Given the description of an element on the screen output the (x, y) to click on. 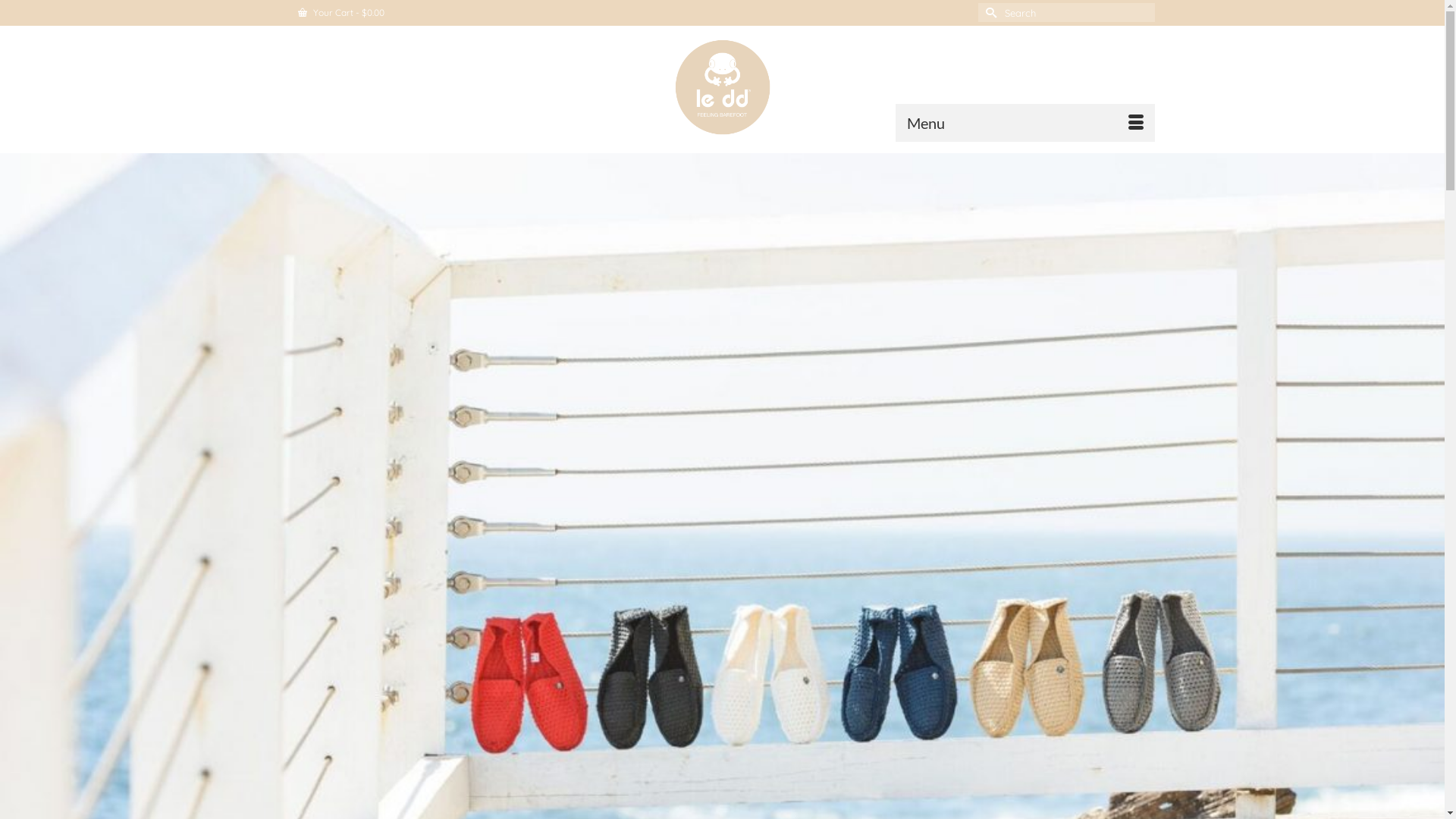
Your Cart - $0.00 Element type: text (340, 12)
Menu Element type: text (1024, 122)
Le dd Element type: hover (721, 87)
